Given the description of an element on the screen output the (x, y) to click on. 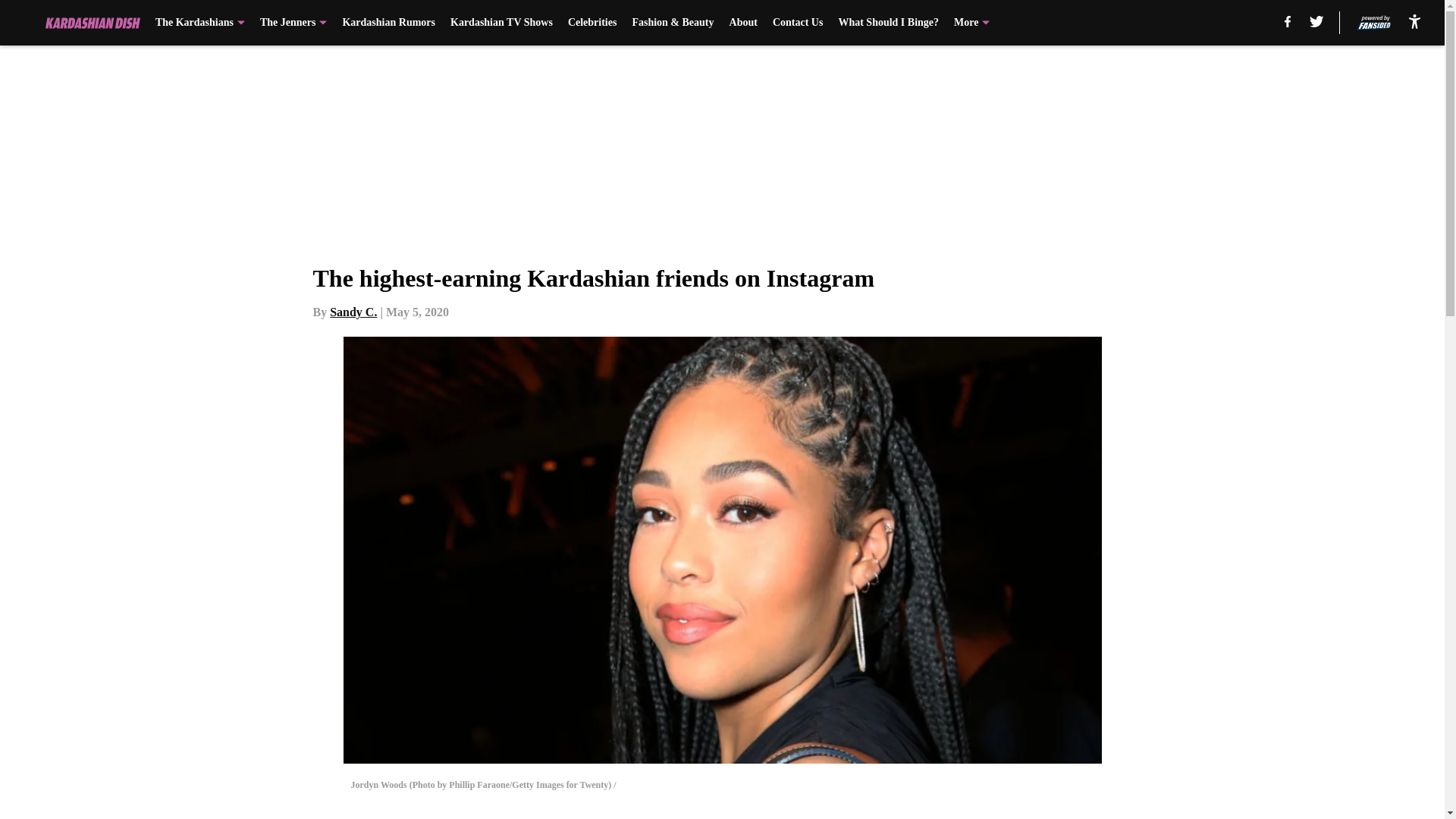
Celebrities (592, 22)
About (743, 22)
Sandy C. (353, 311)
Contact Us (798, 22)
Kardashian Rumors (388, 22)
Kardashian TV Shows (501, 22)
More (971, 22)
What Should I Binge? (888, 22)
